Given the description of an element on the screen output the (x, y) to click on. 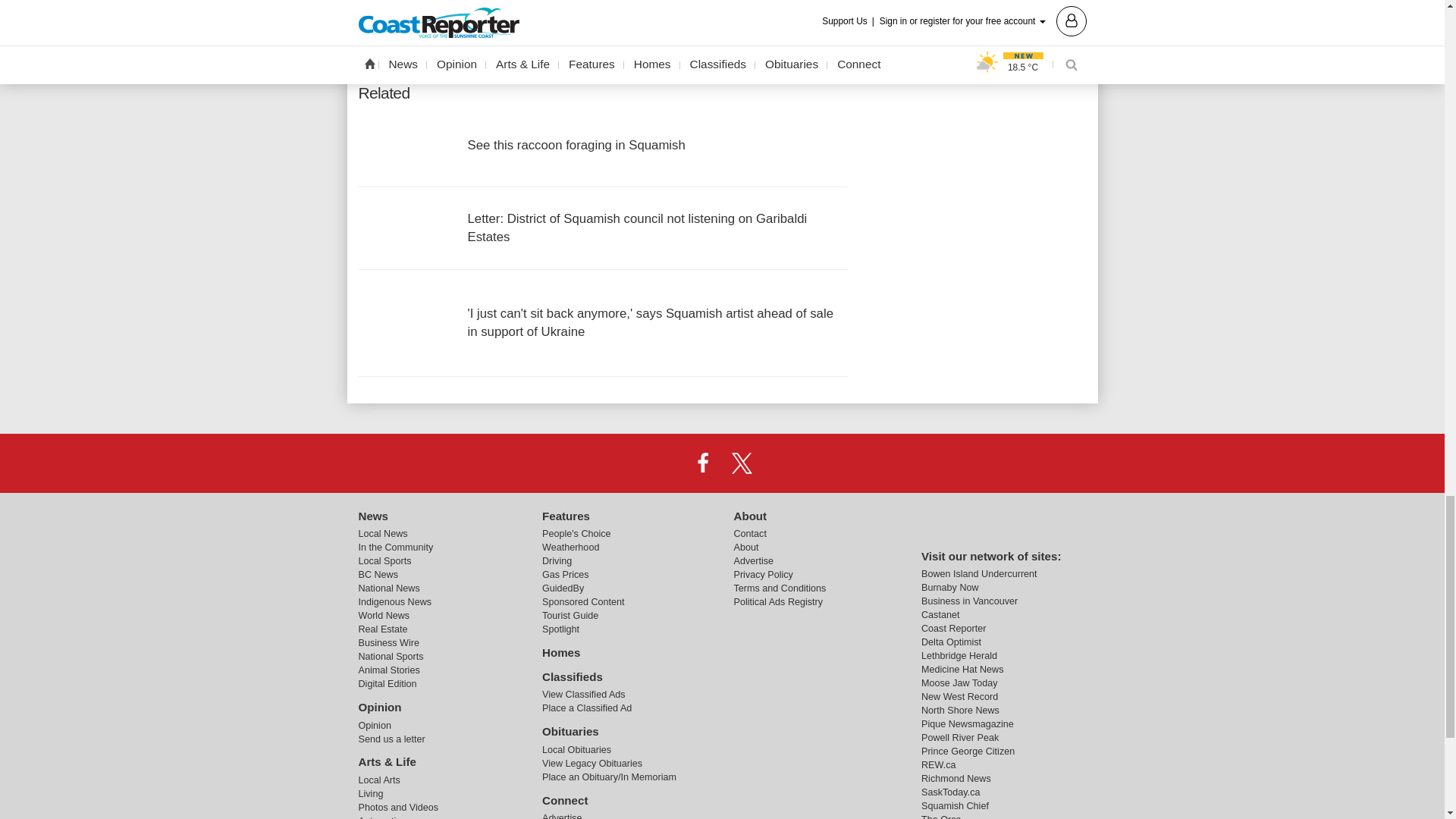
Facebook (702, 462)
X (741, 462)
